Given the description of an element on the screen output the (x, y) to click on. 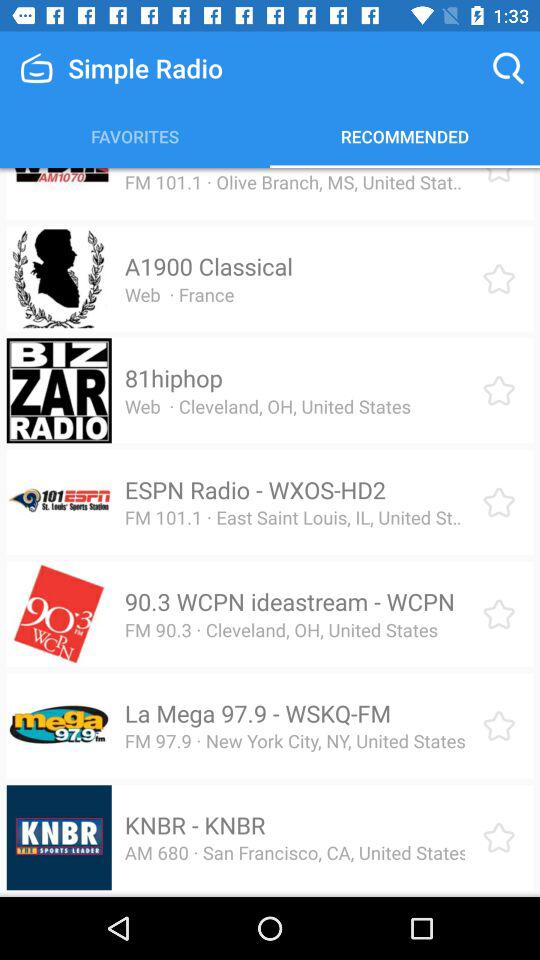
scroll to la mega 97 (257, 713)
